Given the description of an element on the screen output the (x, y) to click on. 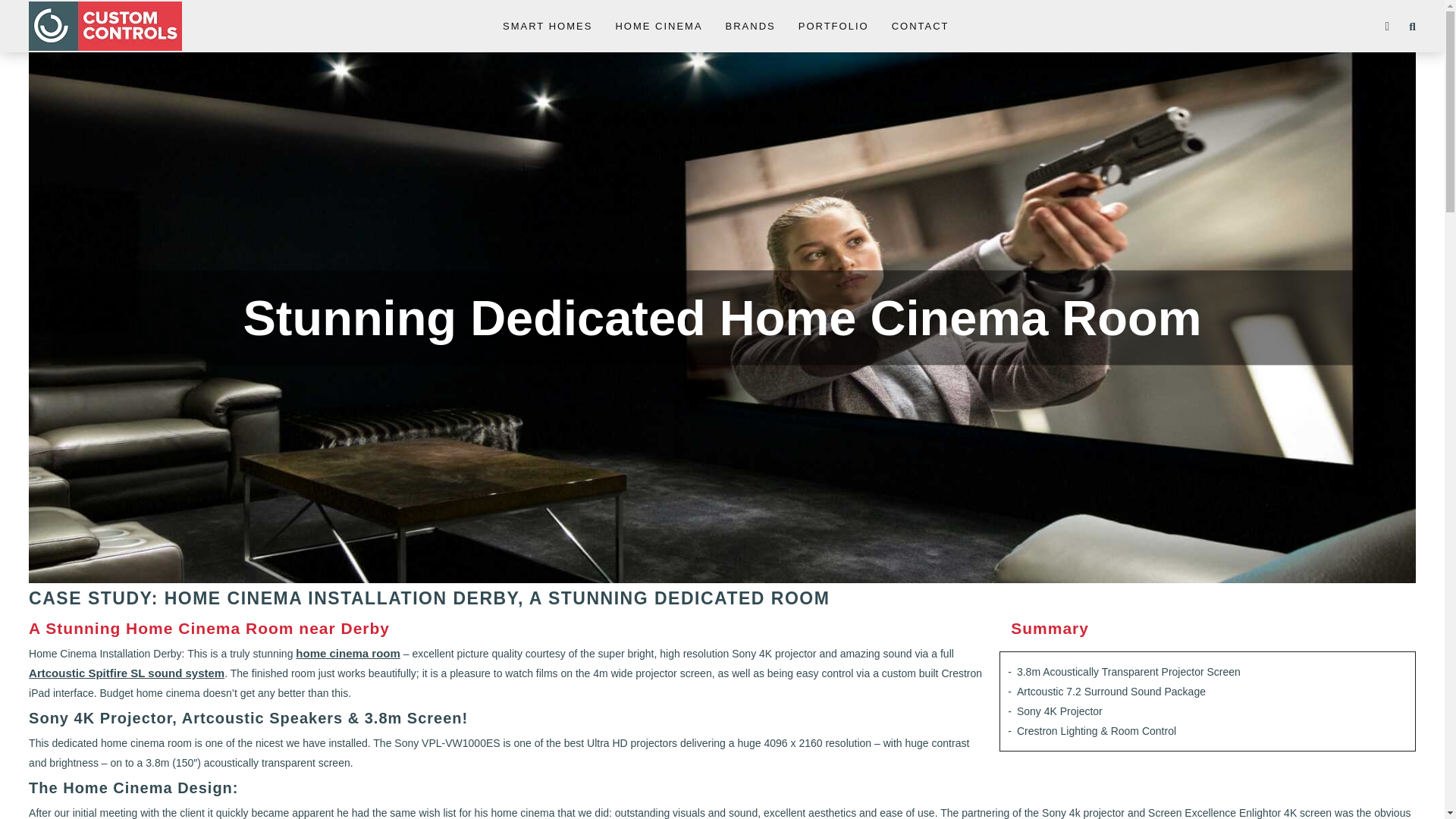
Artcoustic Spitfire SL sound system (126, 672)
SMART HOMES (547, 26)
home cinema room (347, 653)
PORTFOLIO (833, 26)
BRANDS (750, 26)
CONTACT (920, 26)
HOME CINEMA (657, 26)
